Given the description of an element on the screen output the (x, y) to click on. 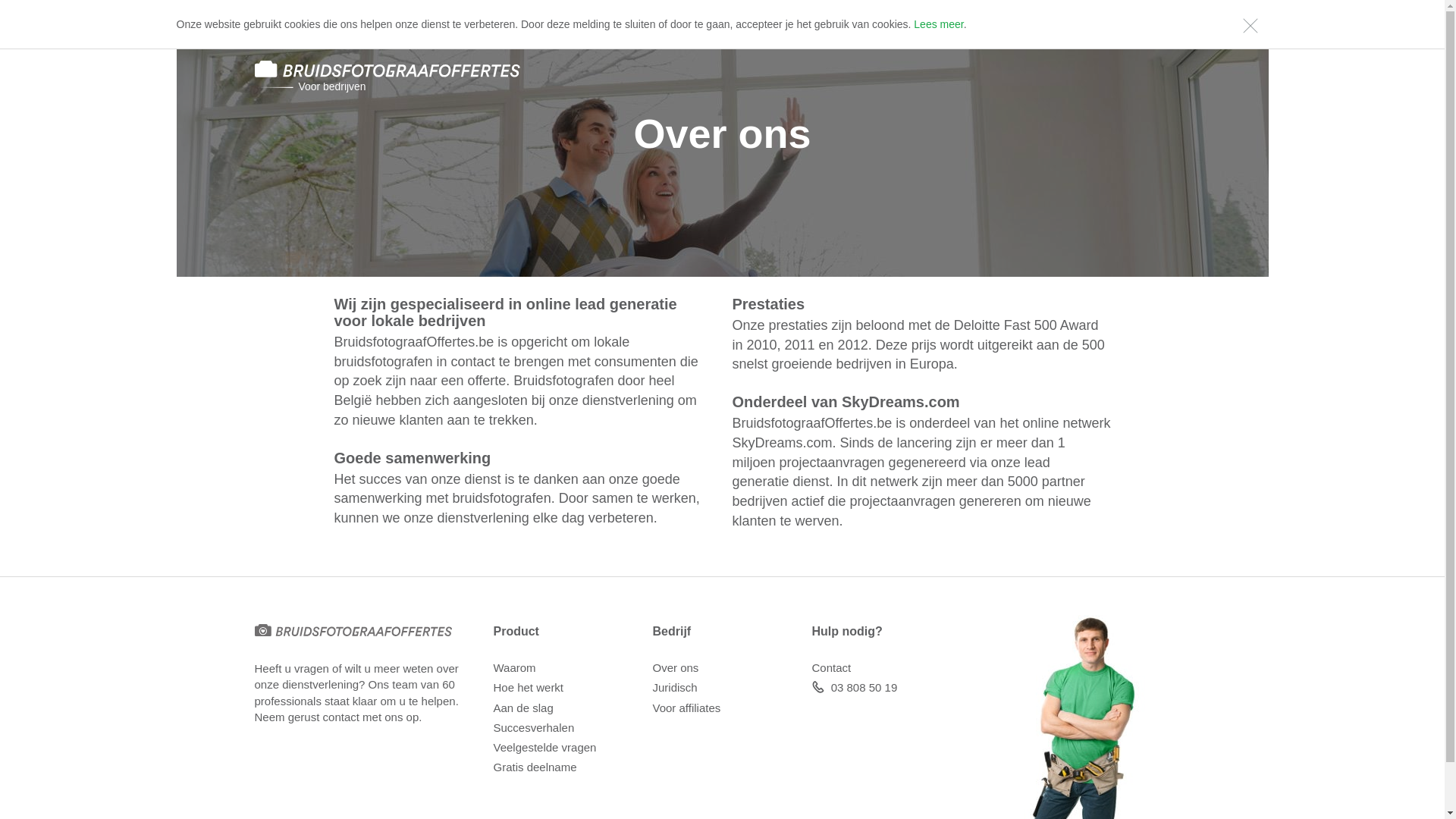
Succesverhalen Element type: text (533, 727)
Veelgestelde vragen Element type: text (544, 746)
Waarom Element type: text (513, 667)
Over ons Element type: text (675, 667)
Juridisch Element type: text (674, 686)
Gratis deelname Element type: text (534, 766)
Hoe het werkt Element type: text (527, 686)
Voor affiliates Element type: text (686, 707)
03 808 50 19 Element type: text (864, 686)
Aan de slag Element type: text (522, 707)
Contact Element type: text (830, 667)
Voor bedrijven Element type: text (483, 76)
Sluiten Element type: hover (1249, 24)
Lees meer Element type: text (938, 24)
